Given the description of an element on the screen output the (x, y) to click on. 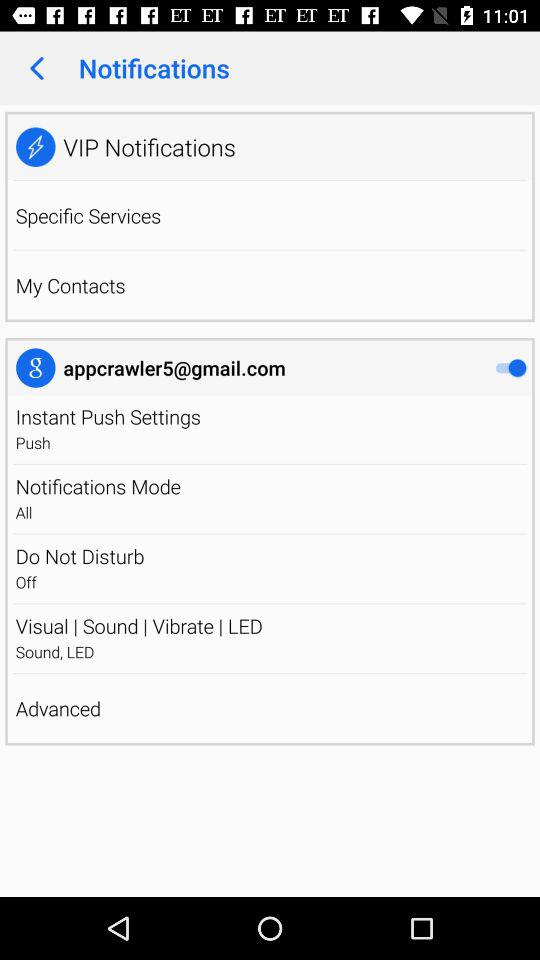
click the icon to the left of the notifications (36, 68)
